Given the description of an element on the screen output the (x, y) to click on. 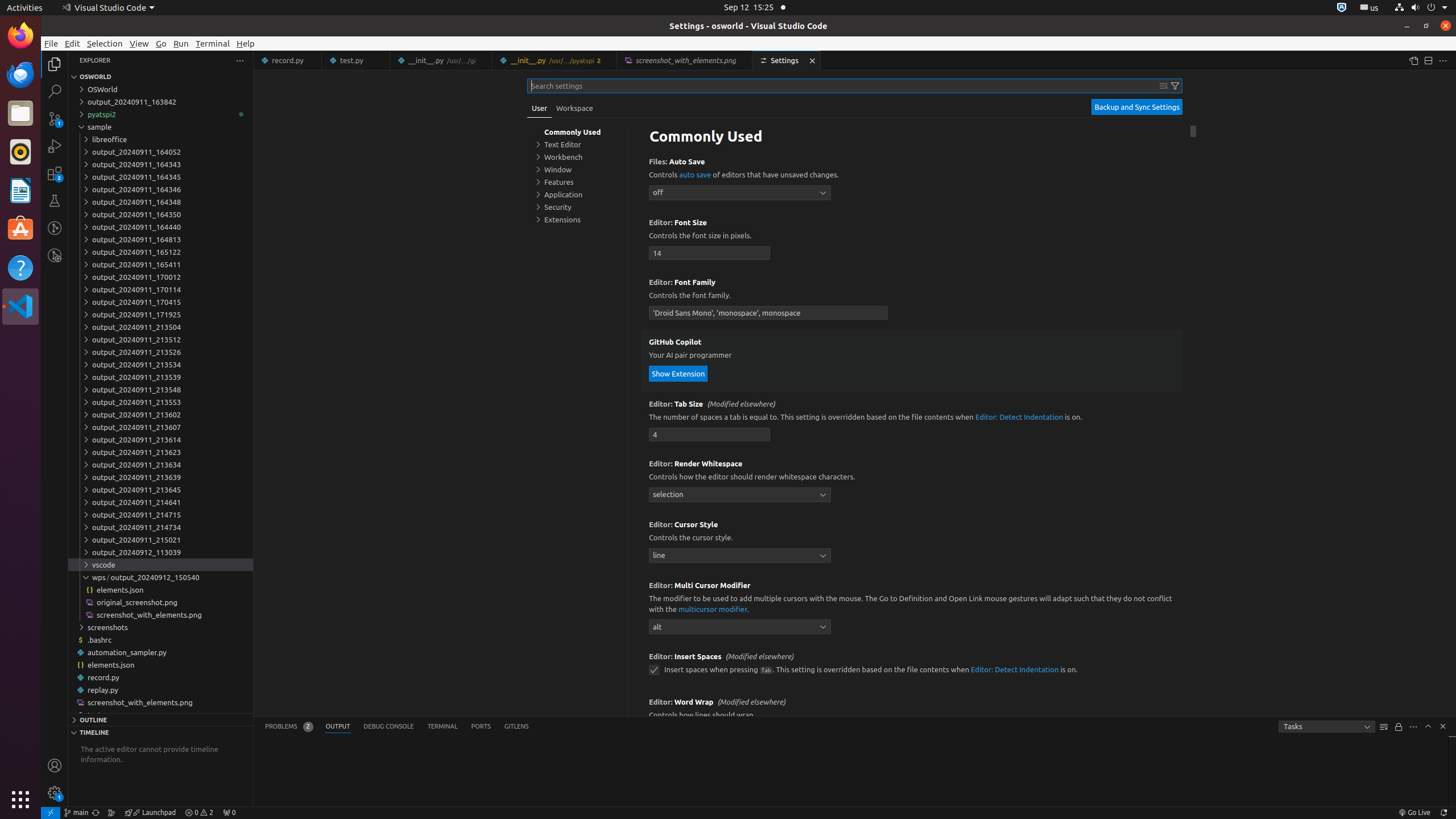
wps Element type: tree-item (101, 577)
output_20240911_171925 Element type: tree-item (160, 314)
Clear Settings Search Input Element type: push-button (1163, 85)
Debug Console (Ctrl+Shift+Y) Element type: page-tab (388, 726)
output_20240911_164343 Element type: tree-item (160, 164)
